Given the description of an element on the screen output the (x, y) to click on. 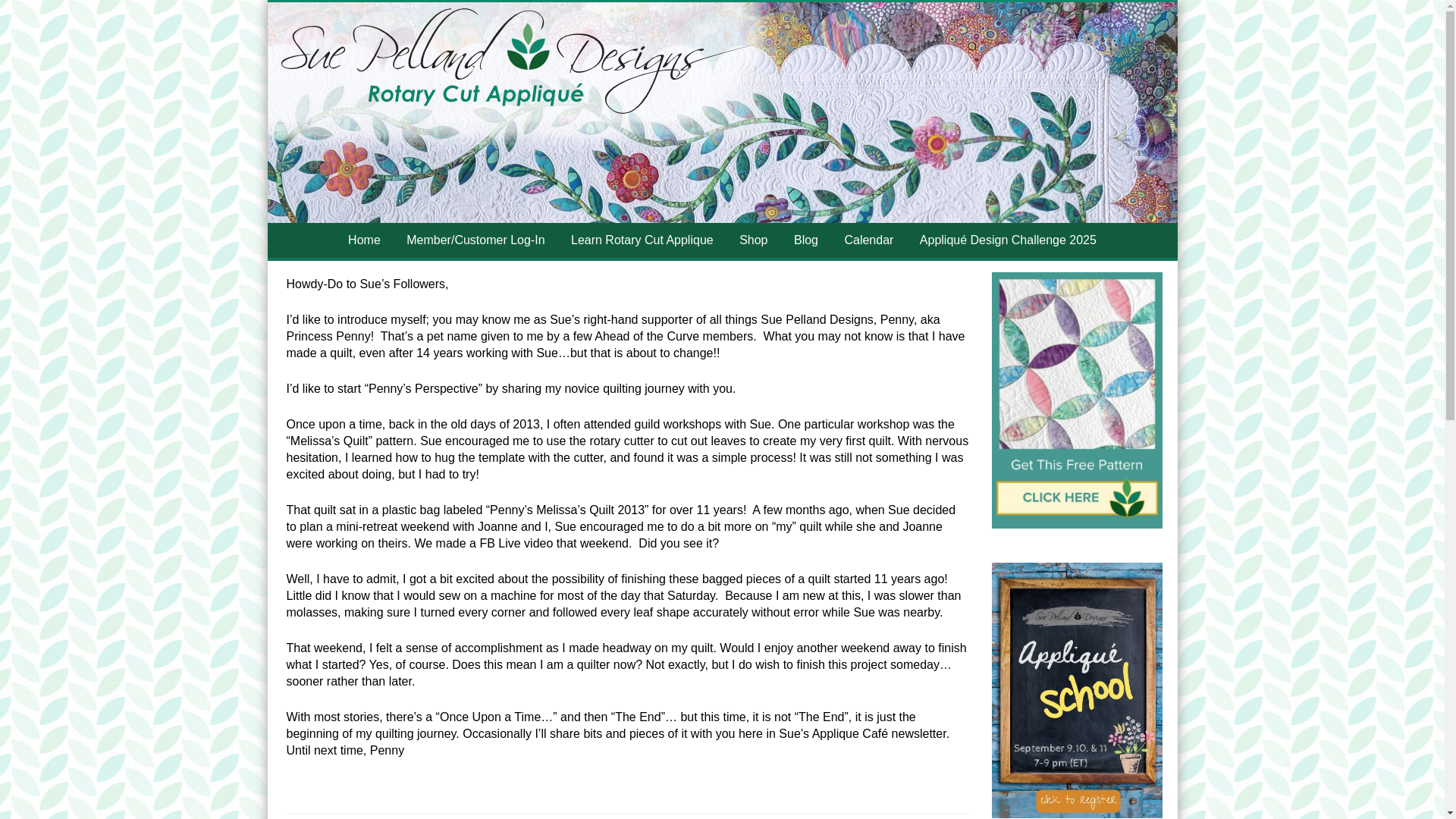
Shop (753, 239)
Home (363, 239)
Learn Rotary Cut Applique (642, 239)
